Given the description of an element on the screen output the (x, y) to click on. 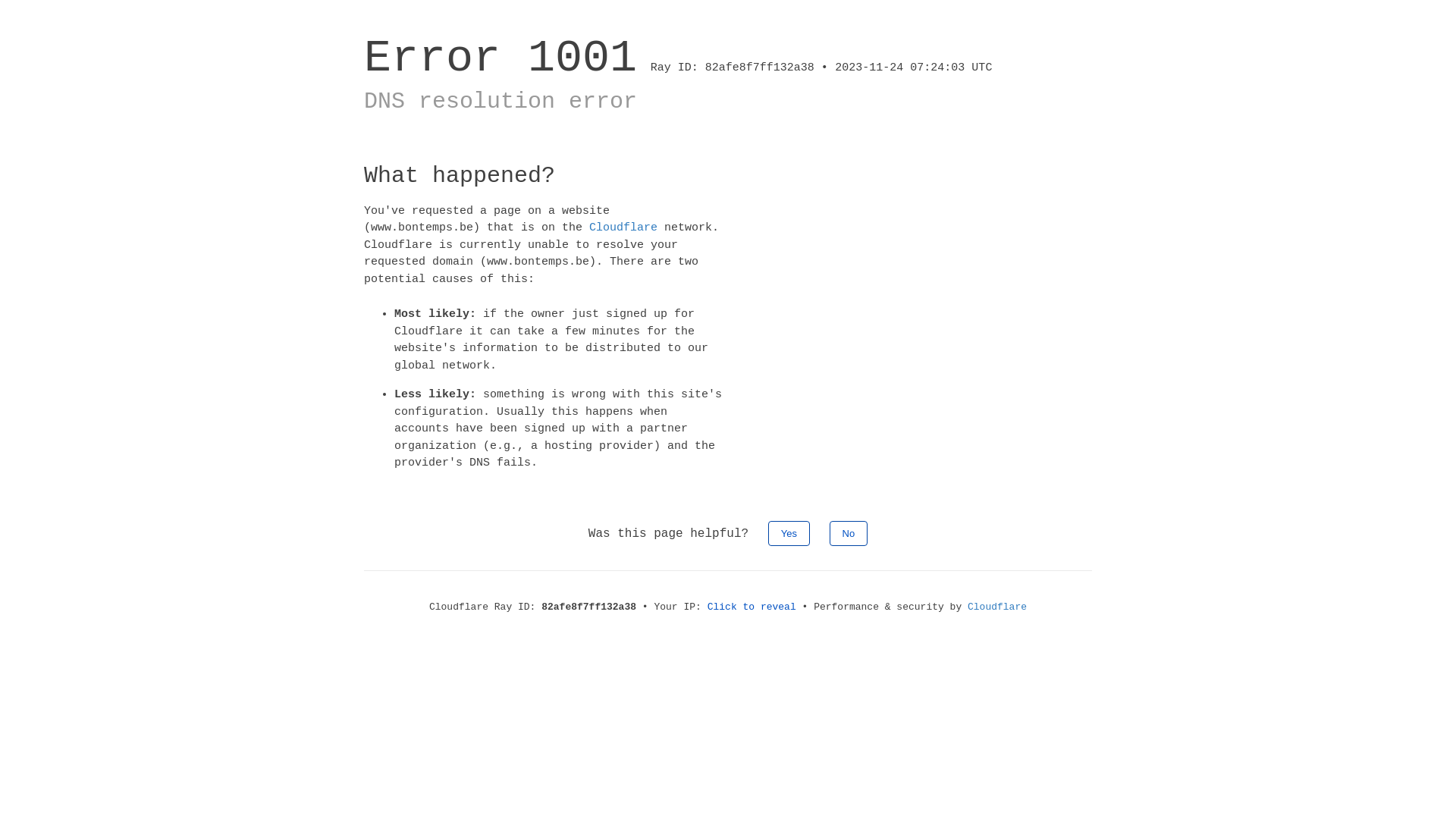
No Element type: text (848, 532)
Click to reveal Element type: text (751, 605)
Cloudflare Element type: text (996, 605)
Yes Element type: text (788, 532)
Cloudflare Element type: text (623, 227)
